Given the description of an element on the screen output the (x, y) to click on. 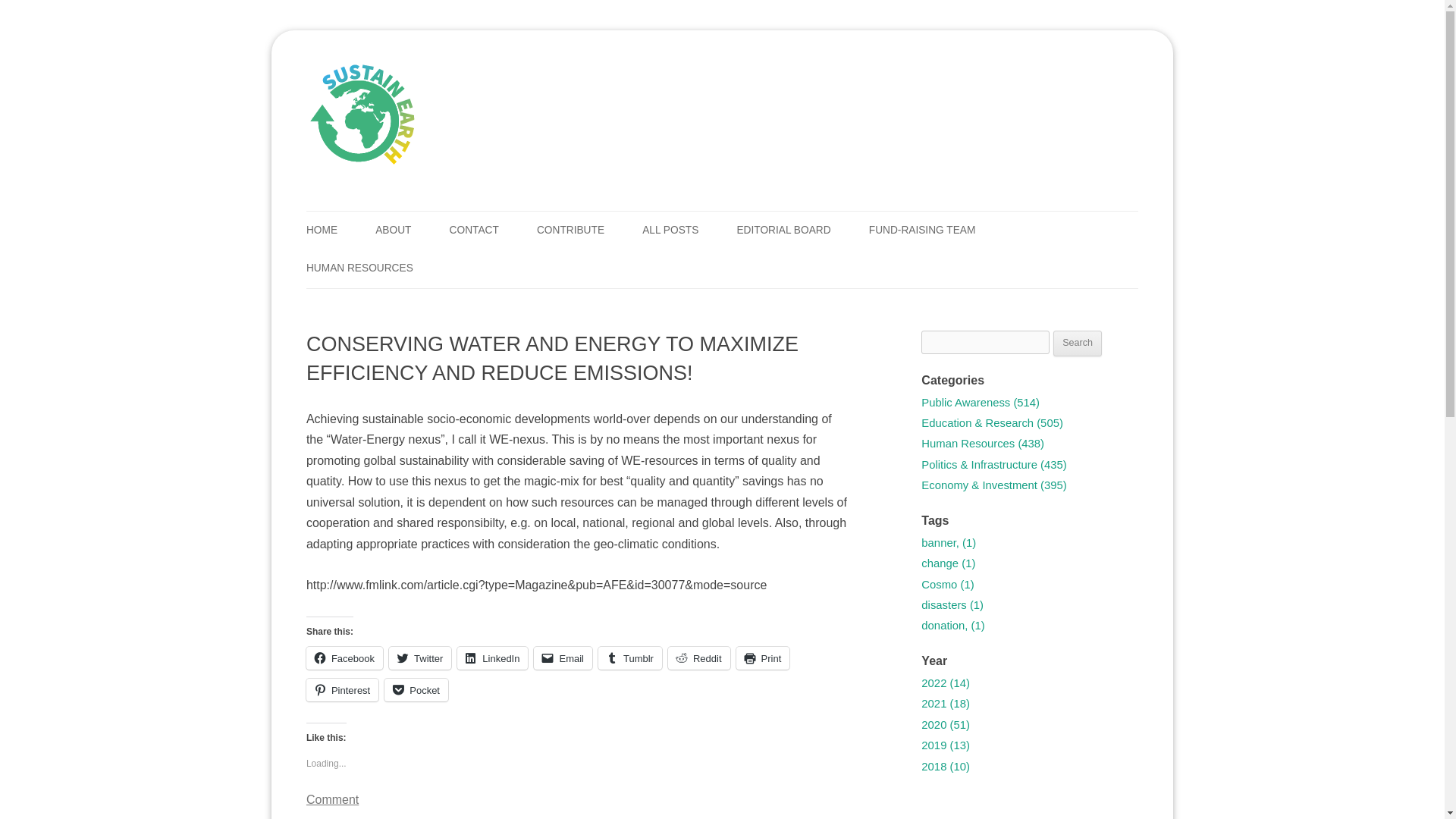
Print (763, 658)
Skip to content (762, 216)
Click to share on Reddit (699, 658)
Click to share on Pocket (416, 689)
Email (563, 658)
Click to share on LinkedIn (492, 658)
Click to share on Twitter (419, 658)
Click to print (763, 658)
Tumblr (630, 658)
Click to share on Tumblr (630, 658)
